Given the description of an element on the screen output the (x, y) to click on. 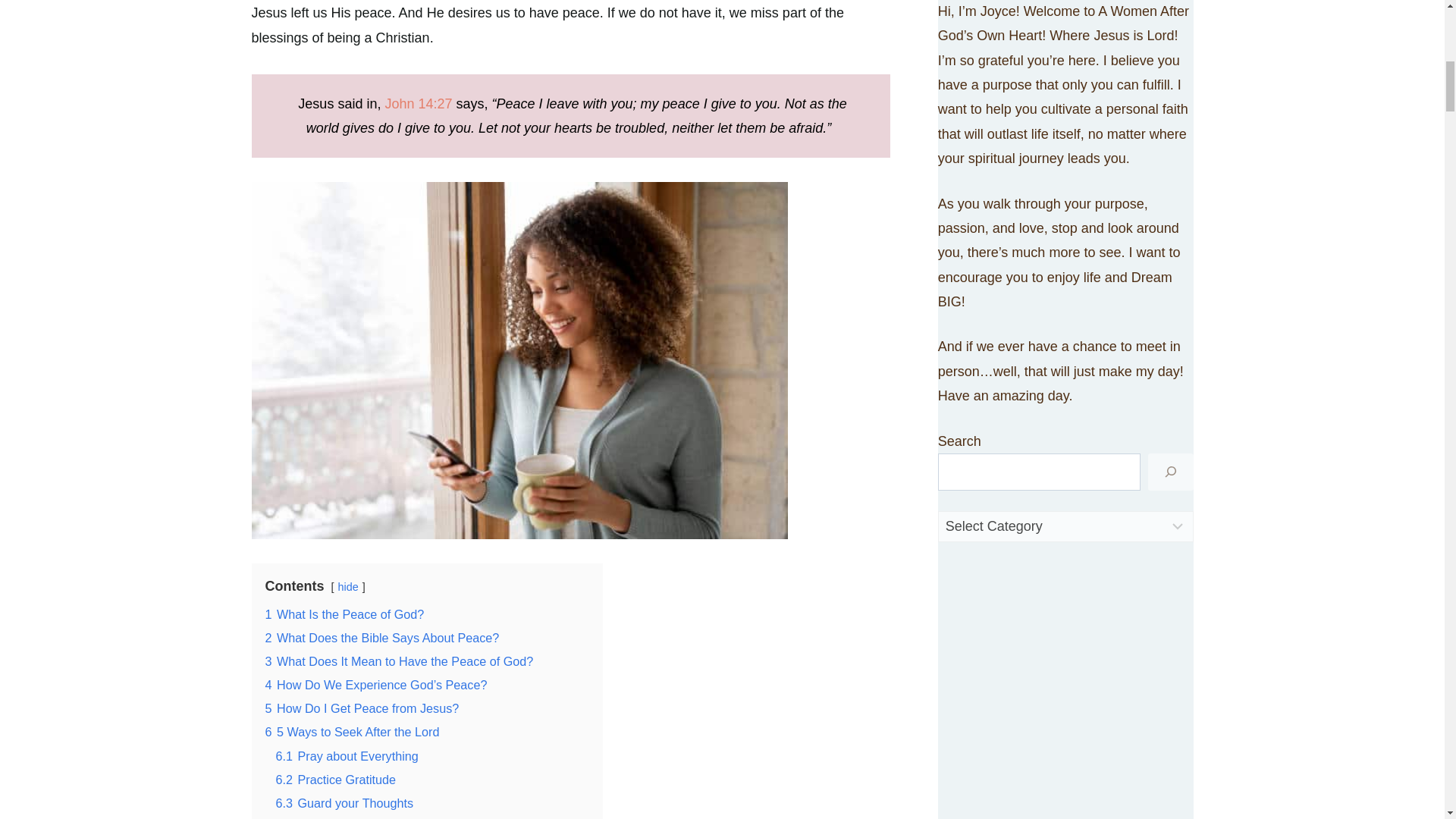
6.3 Guard your Thoughts (344, 802)
6 5 Ways to Seek After the Lord (351, 731)
1 What Is the Peace of God? (344, 613)
5 How Do I Get Peace from Jesus? (362, 707)
6.1 Pray about Everything (347, 755)
John 14:27 (417, 103)
2 What Does the Bible Says About Peace? (381, 637)
3 What Does It Mean to Have the Peace of God? (399, 661)
hide (347, 586)
6.2 Practice Gratitude (336, 779)
